Given the description of an element on the screen output the (x, y) to click on. 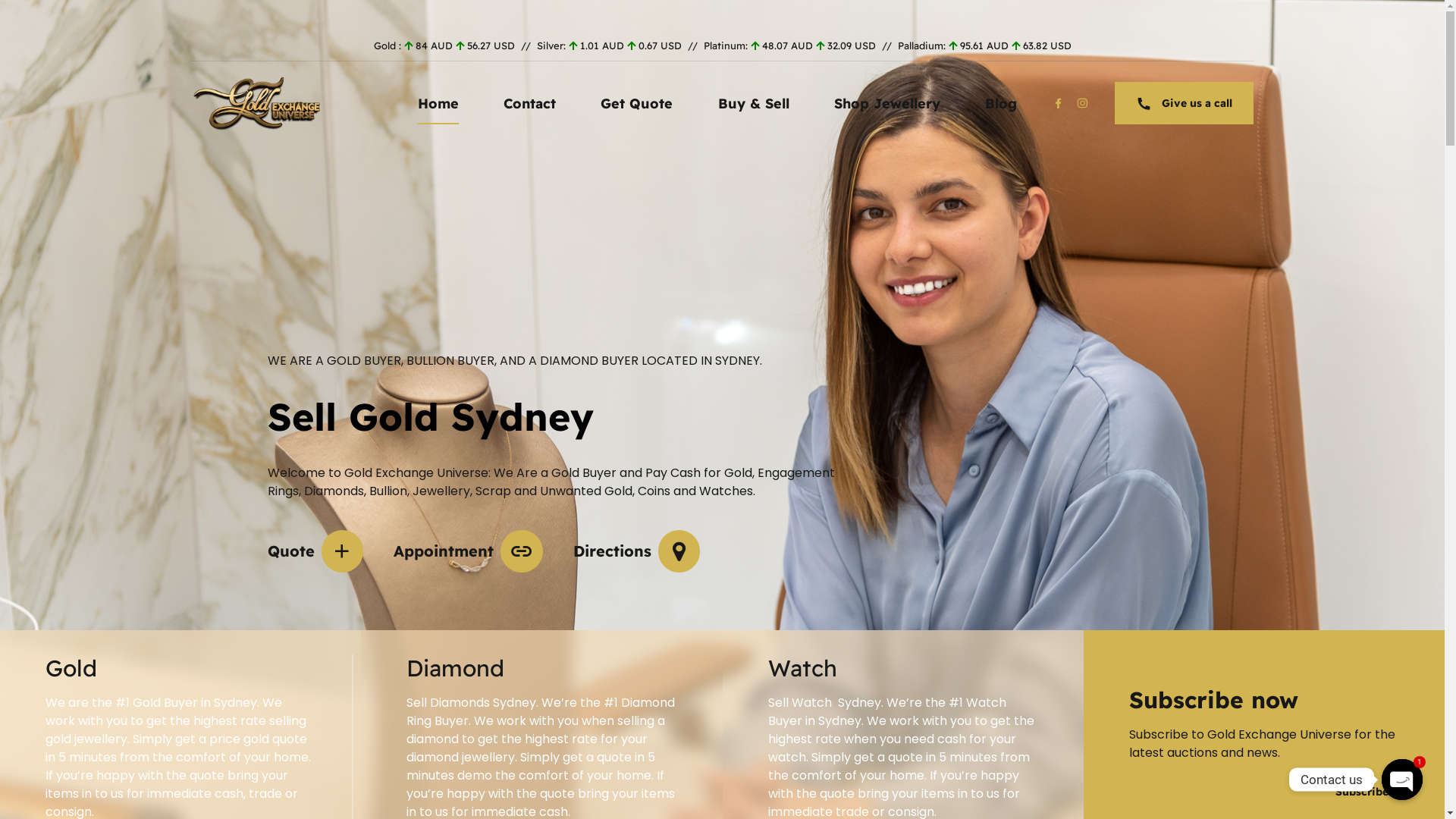
Directions Element type: text (636, 550)
Appointment Element type: text (467, 550)
Get Quote Element type: text (636, 103)
Shop Jewellery Element type: text (887, 103)
Home Element type: text (437, 103)
Contact Element type: text (529, 103)
Give us a call Element type: text (1183, 102)
Quote Element type: text (314, 550)
Sell Diamonds Sydney Element type: text (471, 702)
Subscribe Element type: text (1361, 791)
Blog Element type: text (1000, 103)
Buy & Sell Element type: text (753, 103)
